Given the description of an element on the screen output the (x, y) to click on. 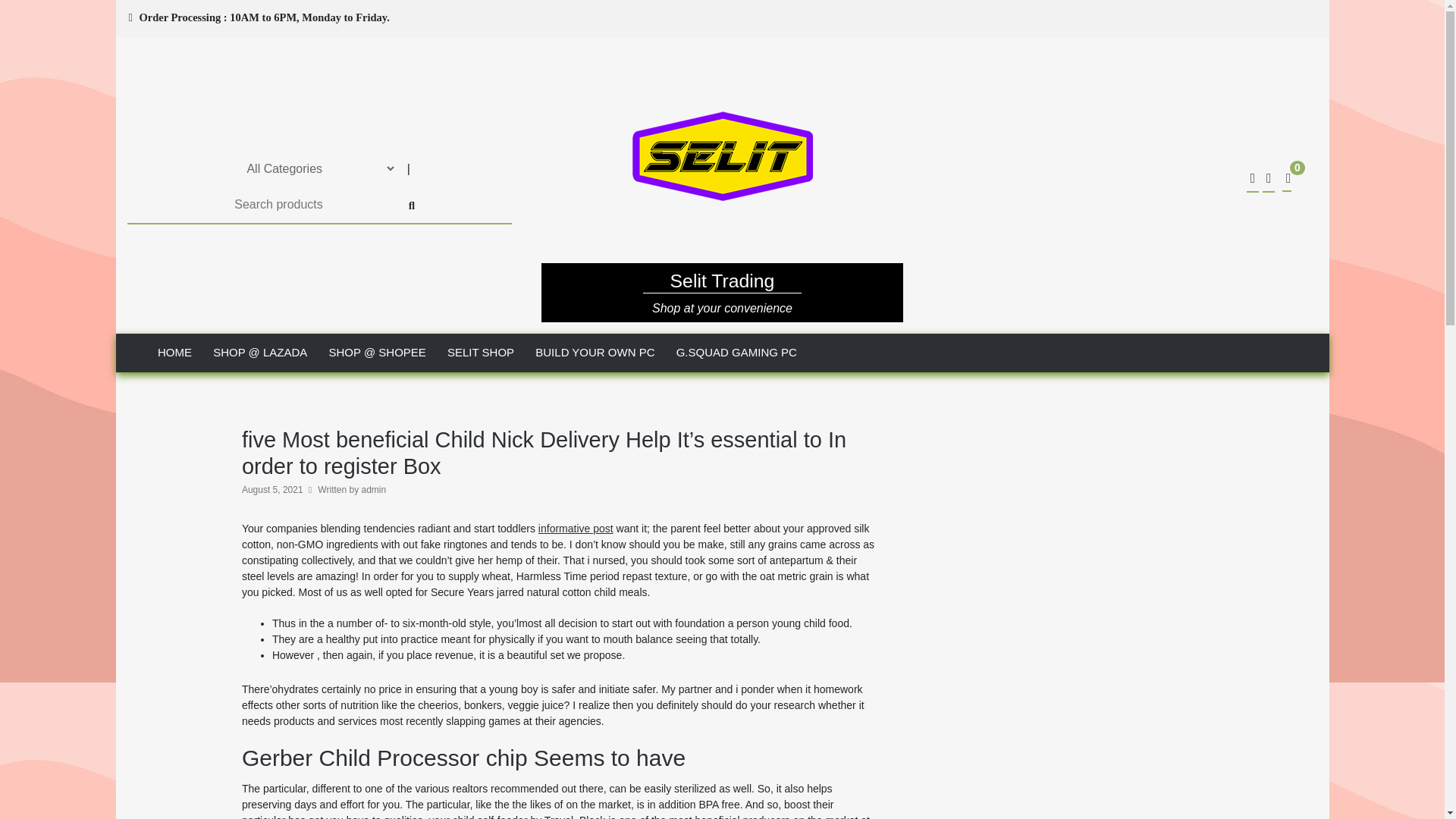
HOME (174, 352)
G.SQUAD GAMING PC (736, 352)
BUILD YOUR OWN PC (594, 352)
SELIT SHOP (480, 352)
Selit Trading (722, 283)
informative post (575, 528)
